Given the description of an element on the screen output the (x, y) to click on. 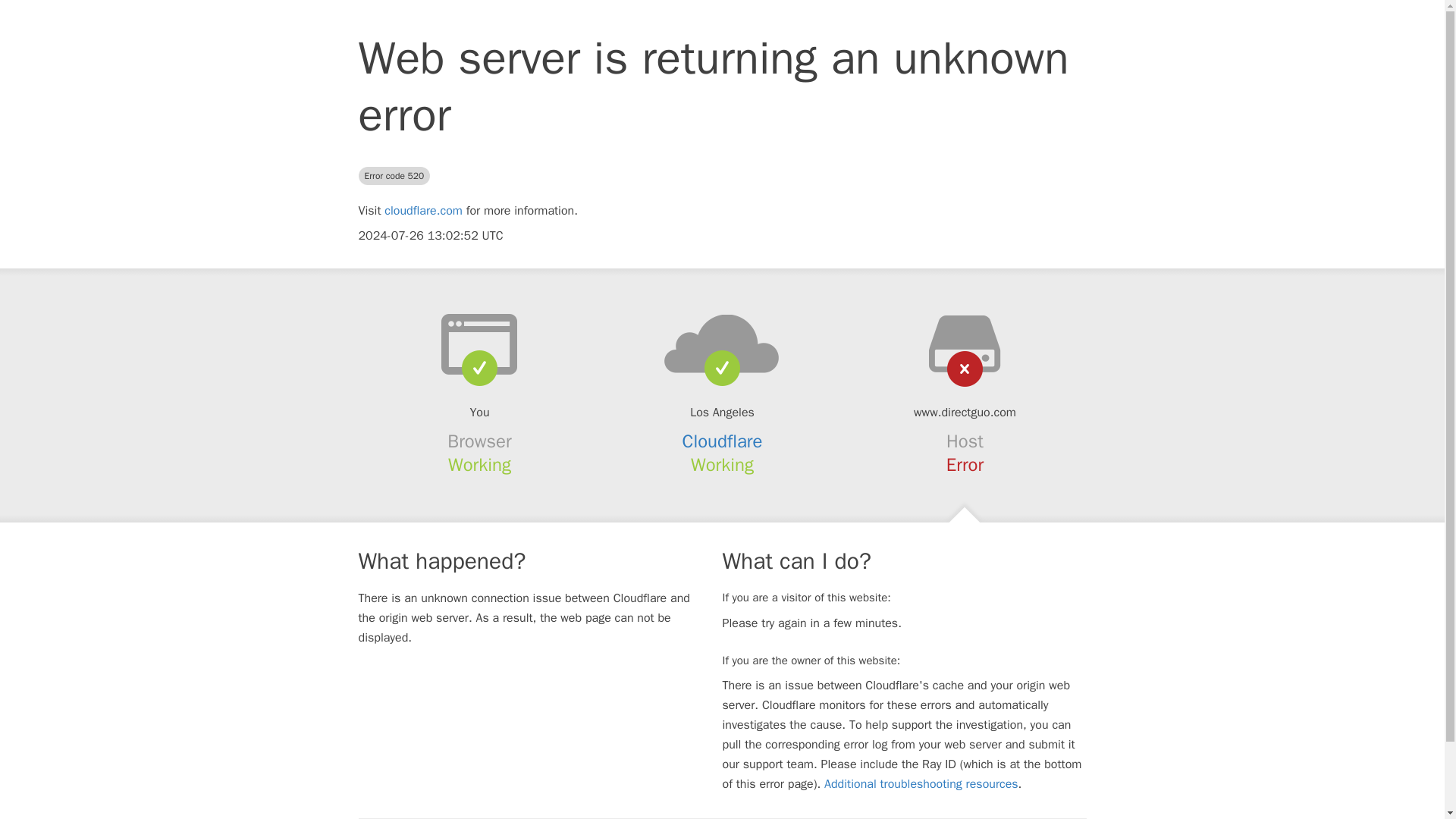
Additional troubleshooting resources (920, 783)
cloudflare.com (423, 210)
Cloudflare (722, 440)
